Given the description of an element on the screen output the (x, y) to click on. 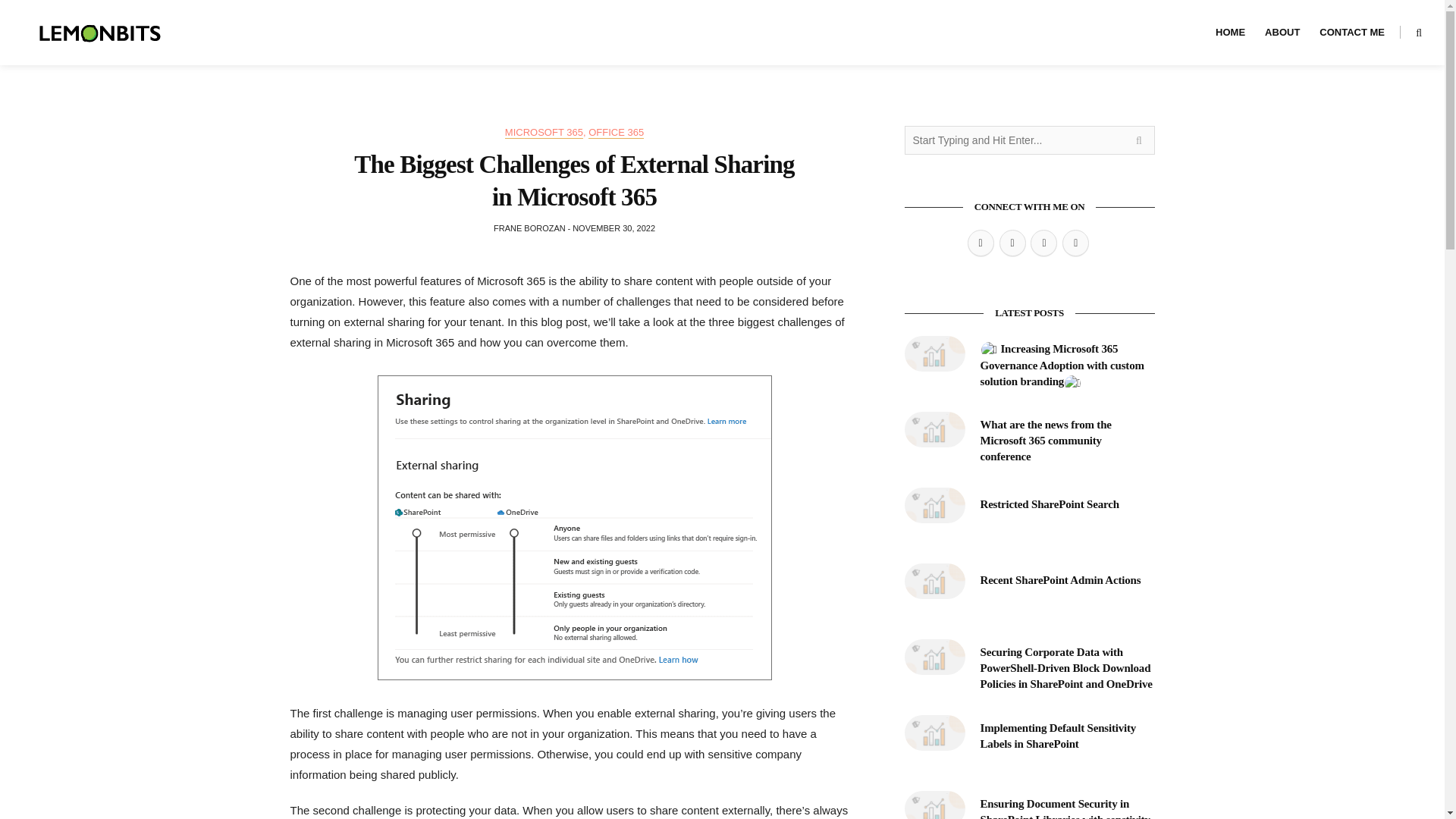
CONTACT ME (1351, 32)
MICROSOFT 365 (544, 132)
OFFICE 365 (615, 132)
Restricted SharePoint Search (1048, 504)
